Given the description of an element on the screen output the (x, y) to click on. 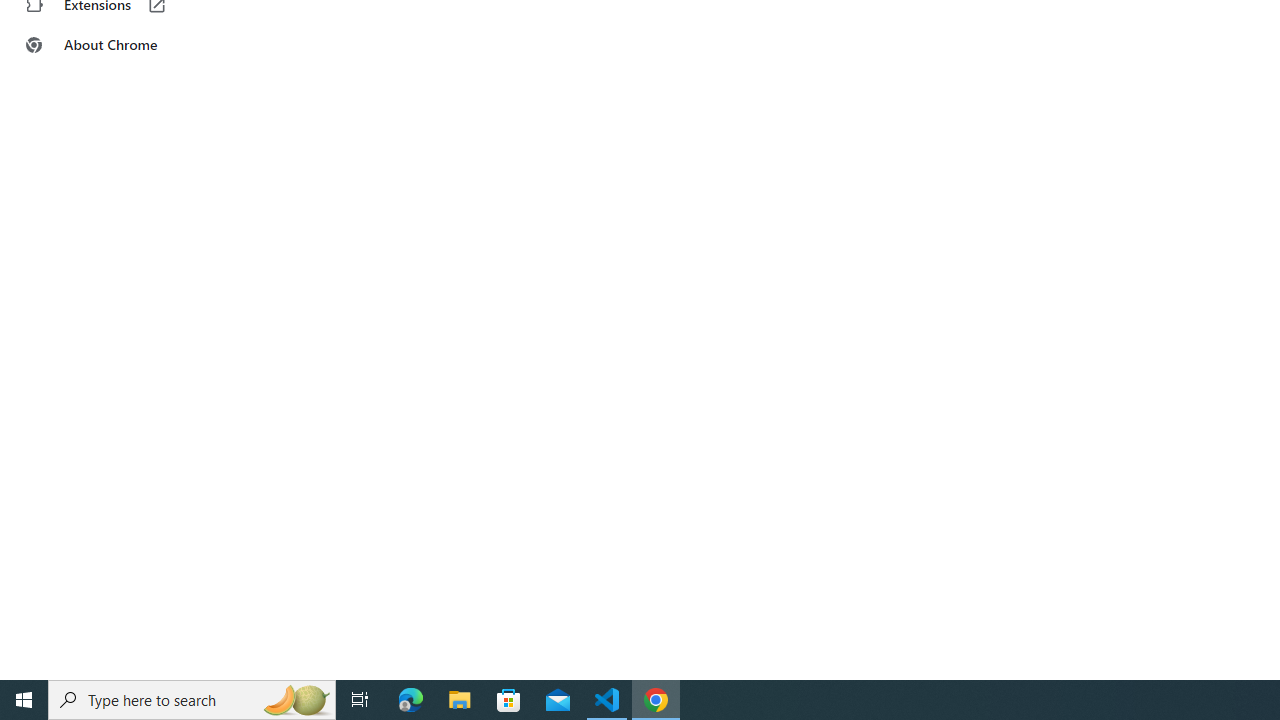
About Chrome (124, 44)
